Given the description of an element on the screen output the (x, y) to click on. 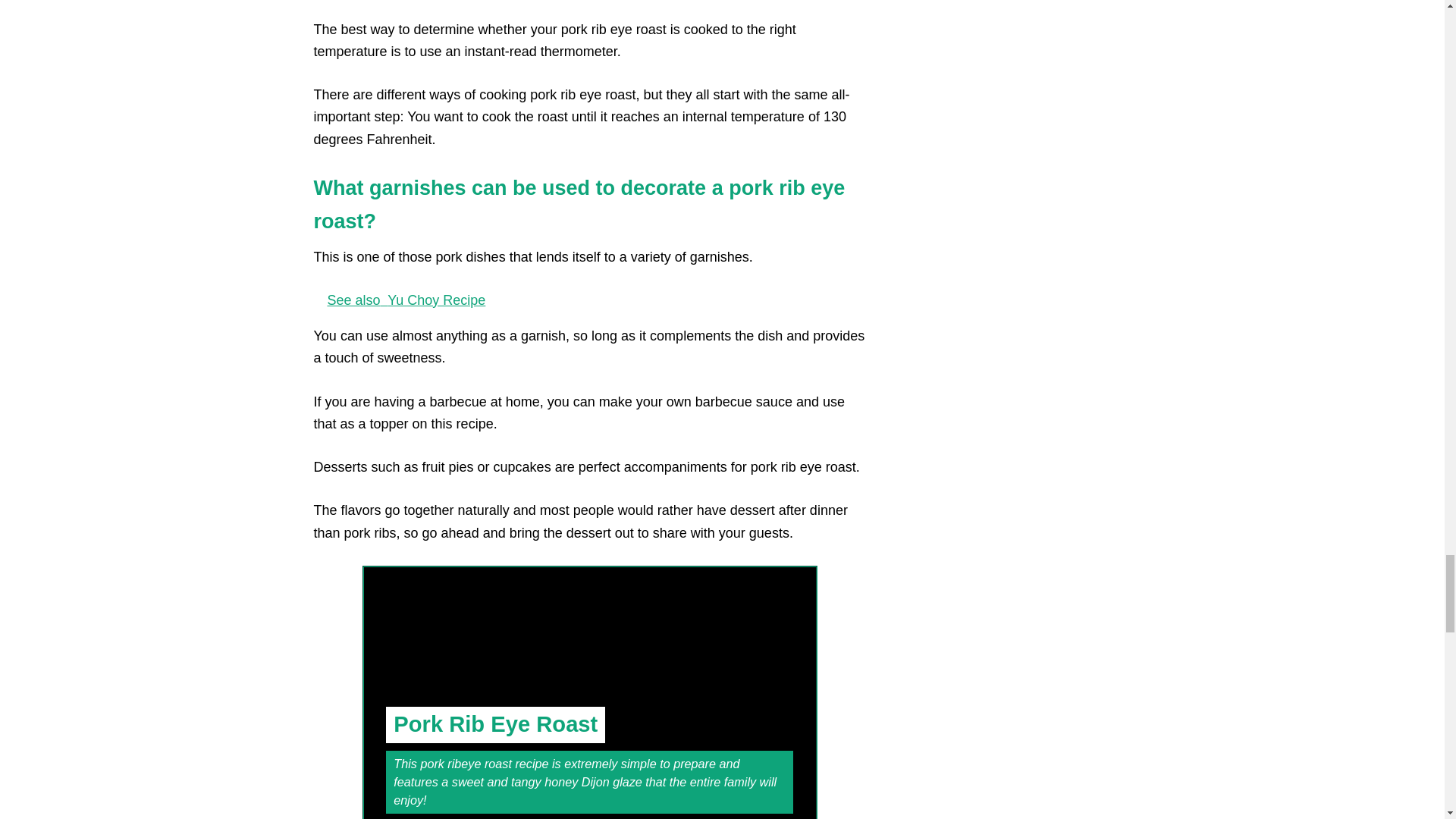
See also  Yu Choy Recipe (590, 300)
